Given the description of an element on the screen output the (x, y) to click on. 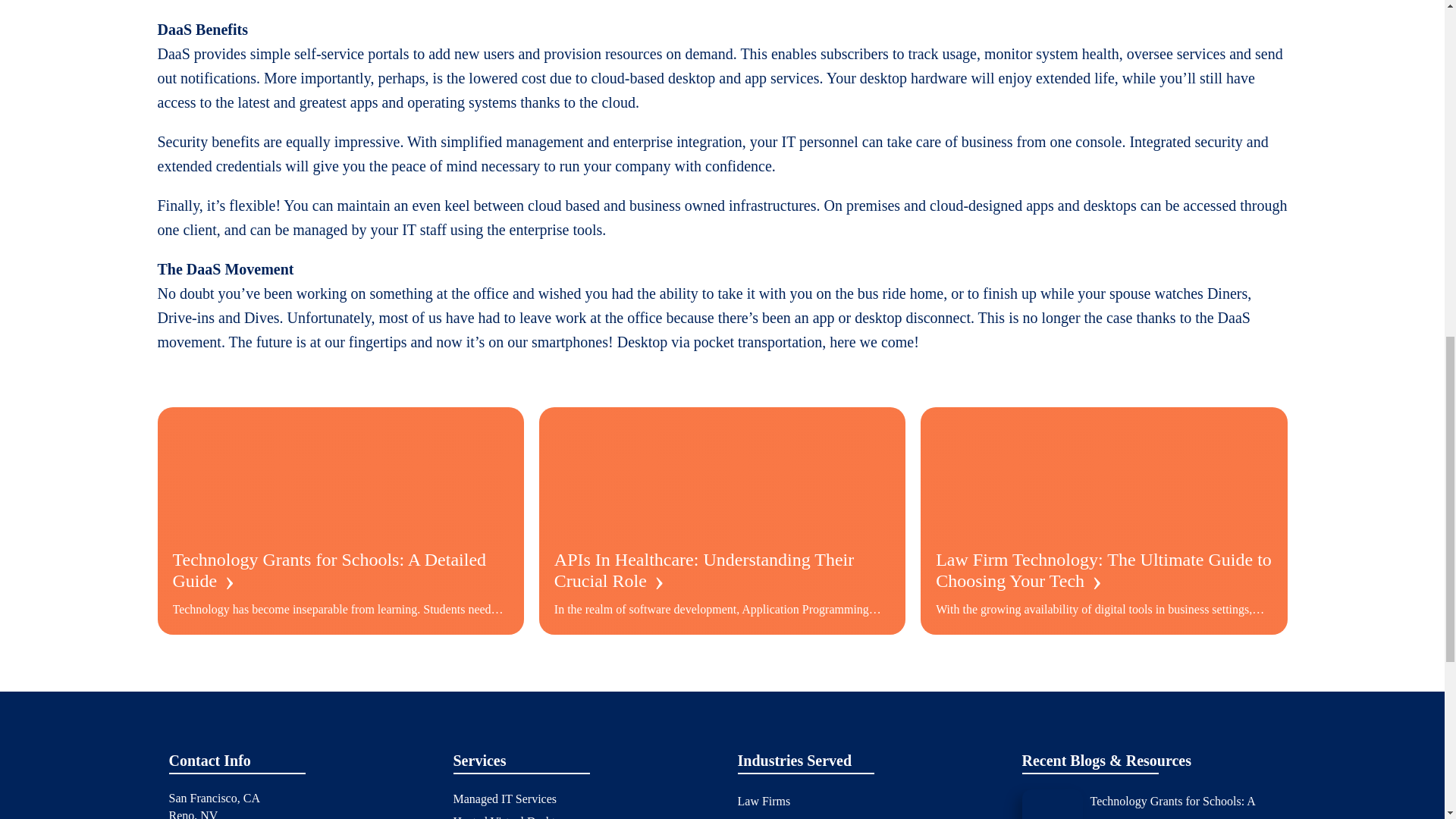
Hosted Virtual Desktops (512, 815)
Managed IT Services (504, 799)
Technology Grants for Schools: A Detailed Guide (1183, 804)
Law Firms (763, 801)
